Given the description of an element on the screen output the (x, y) to click on. 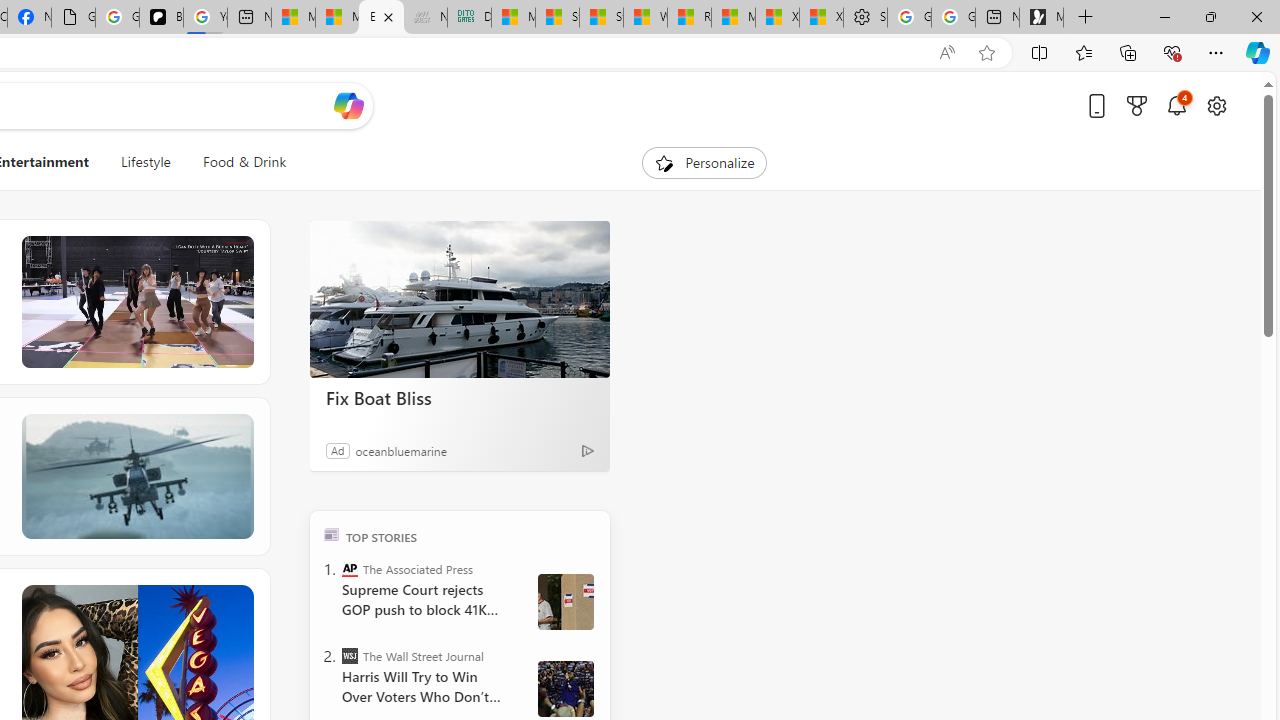
Be Smart | creating Science videos | Patreon (161, 17)
Microsoft rewards (1137, 105)
Lifestyle (146, 162)
